Given the description of an element on the screen output the (x, y) to click on. 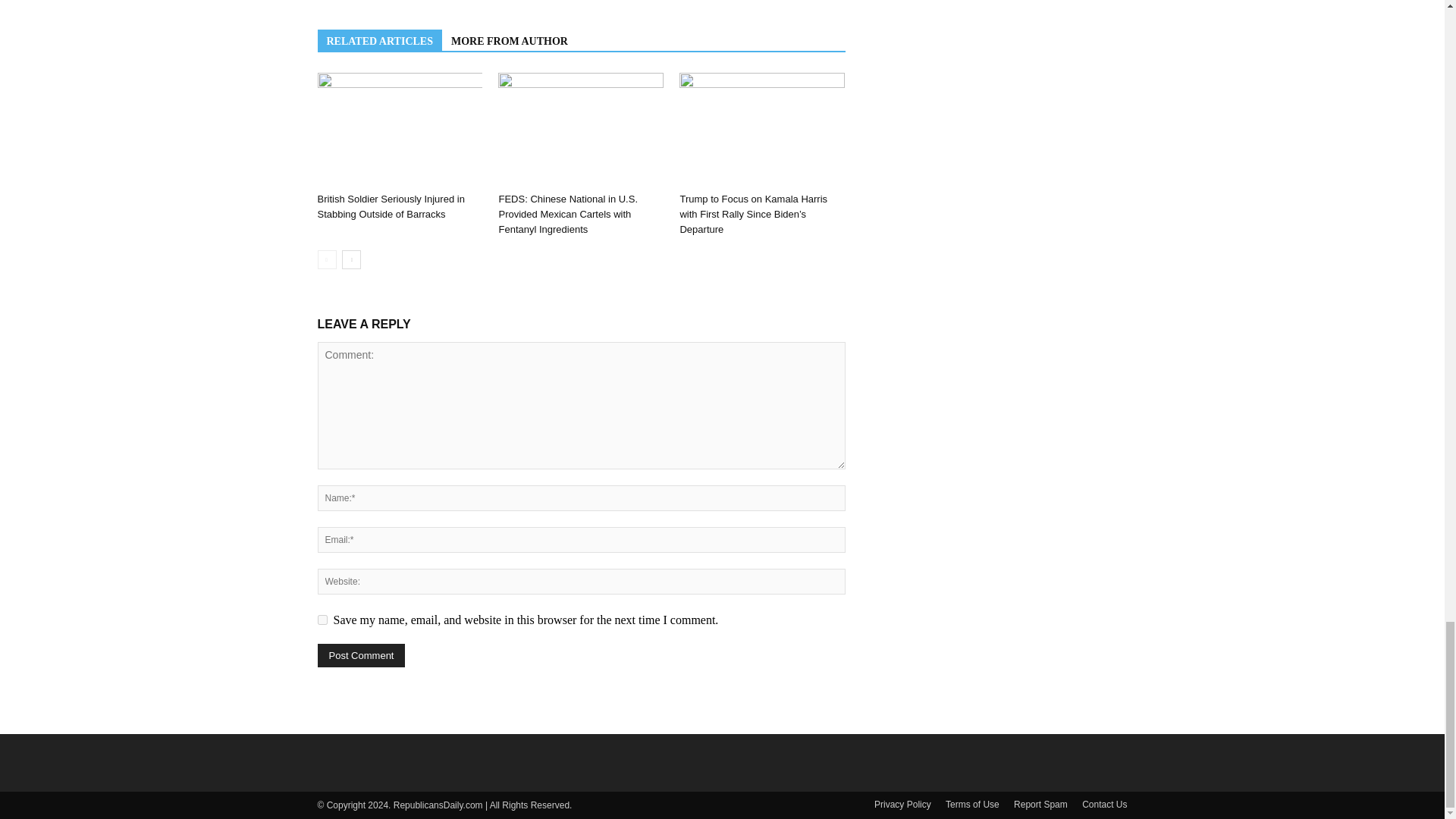
Post Comment (360, 655)
yes (321, 619)
